Given the description of an element on the screen output the (x, y) to click on. 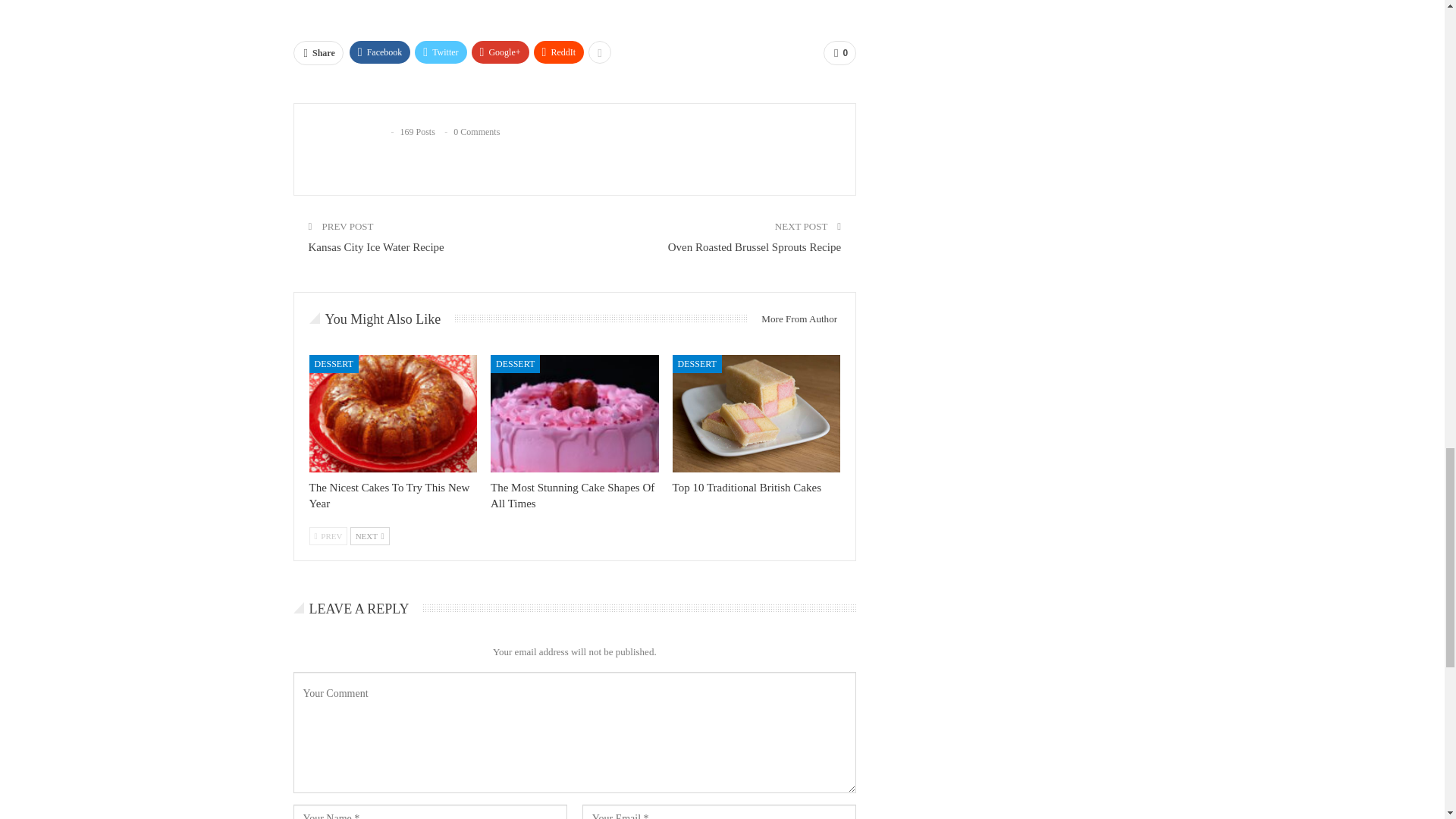
The Most Stunning Cake Shapes Of All Times (574, 413)
Top 10 Traditional British Cakes (746, 487)
Next (370, 536)
Previous (327, 536)
Top 10 Traditional British Cakes (756, 413)
The Nicest Cakes To Try This New Year (392, 413)
The Most Stunning Cake Shapes Of All Times (571, 495)
The Nicest Cakes To Try This New Year (389, 495)
